Given the description of an element on the screen output the (x, y) to click on. 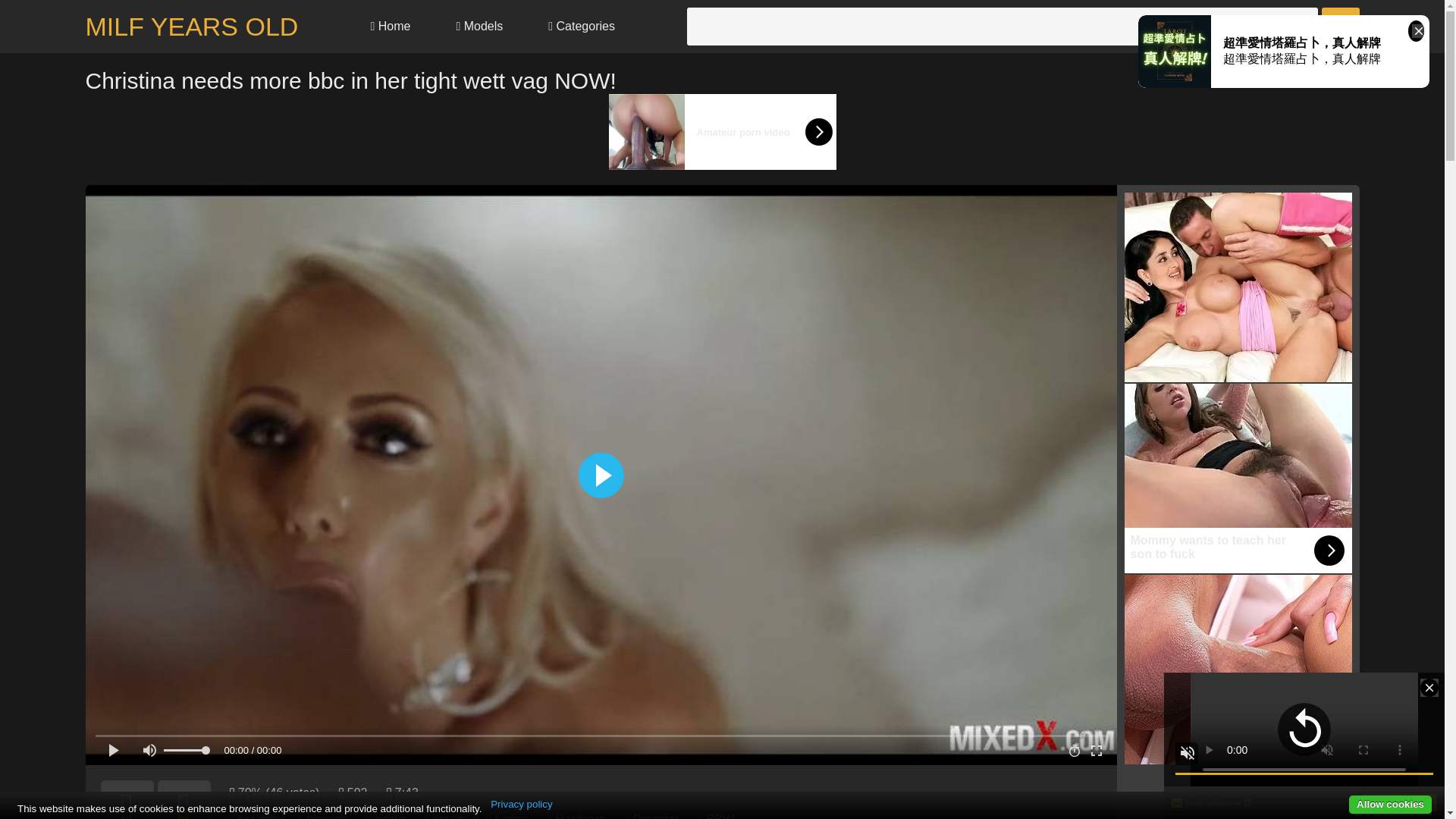
Models (478, 26)
Dislike! (184, 799)
Like! (126, 799)
MILF YEARS OLD (191, 26)
BBW (719, 816)
big dick (258, 816)
Home (390, 26)
Hardcore (580, 816)
Amateur porn video (721, 131)
Latina (511, 816)
Pornstar (655, 816)
riding (389, 816)
Search (1339, 26)
big tits (449, 816)
Mommy wants to teach her son to fuck (1237, 478)
